Given the description of an element on the screen output the (x, y) to click on. 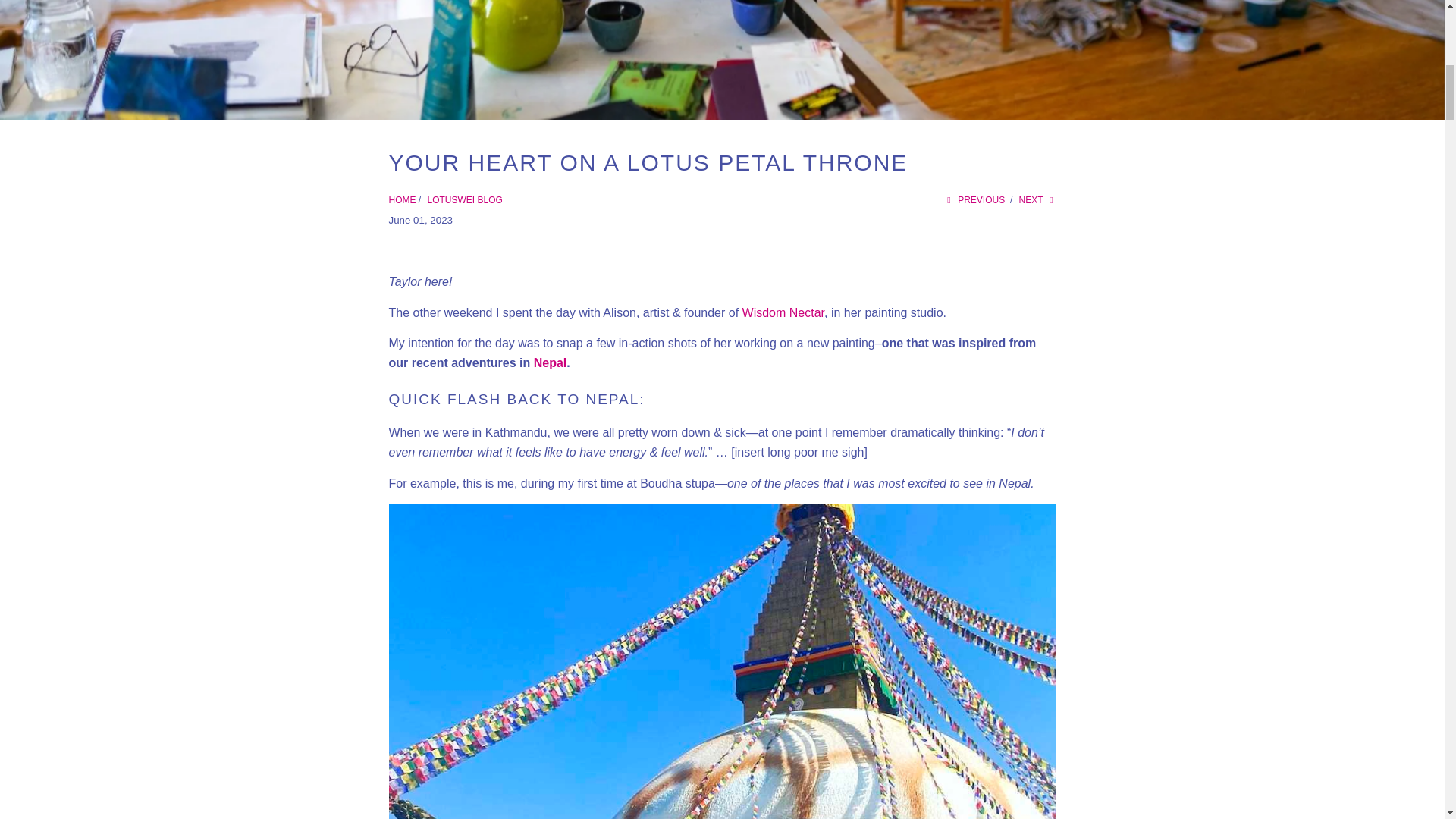
LOTUSWEI (401, 199)
LOTUSWEI Blog (465, 199)
